Given the description of an element on the screen output the (x, y) to click on. 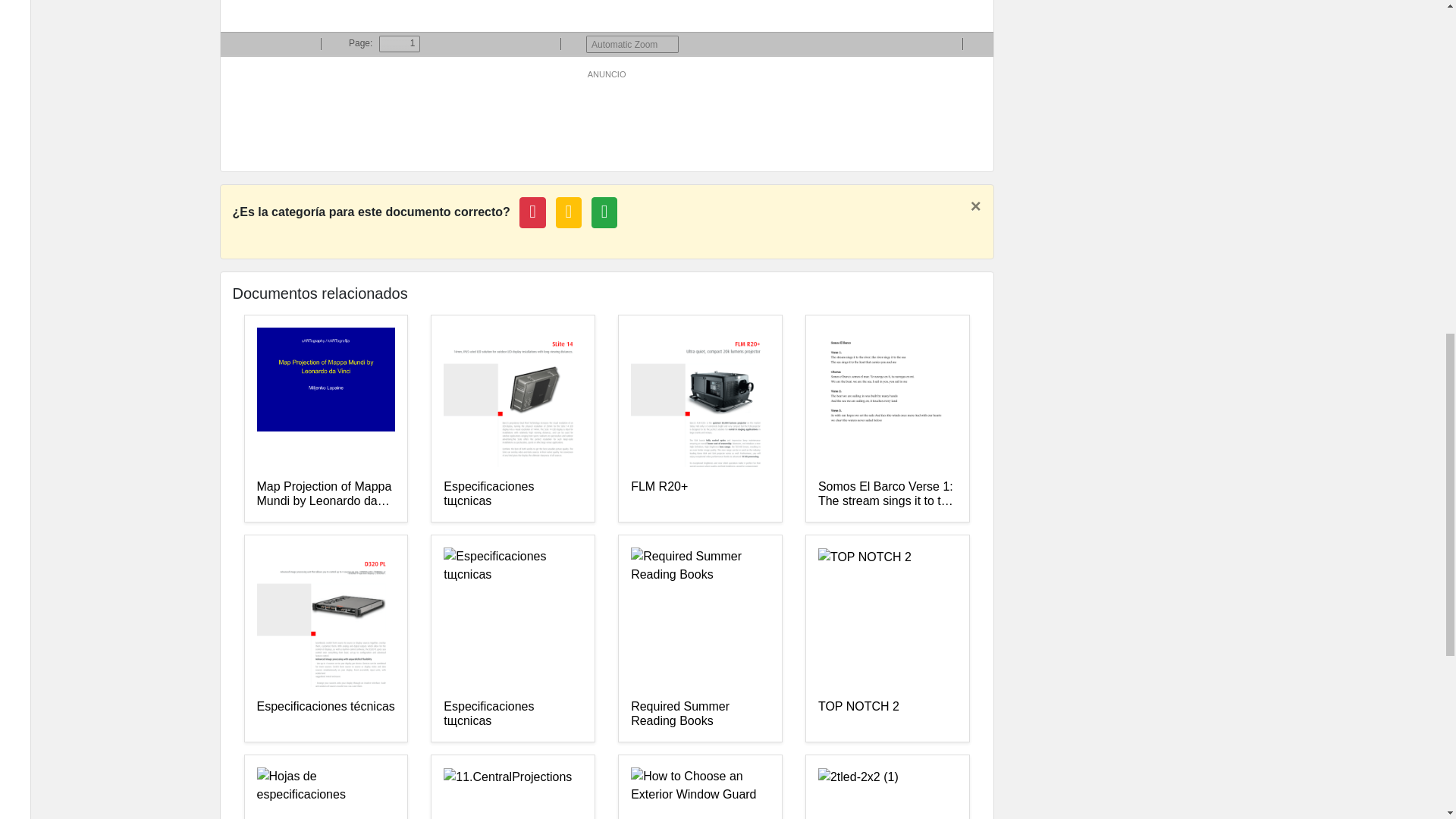
Required Summer Reading Books (700, 714)
Map Projection of Mappa Mundi by Leonardo da Vinci (325, 494)
Map Projection of Mappa Mundi by Leonardo da Vinci (325, 494)
TOP NOTCH 2 (887, 714)
Required Summer Reading Books (700, 714)
